Given the description of an element on the screen output the (x, y) to click on. 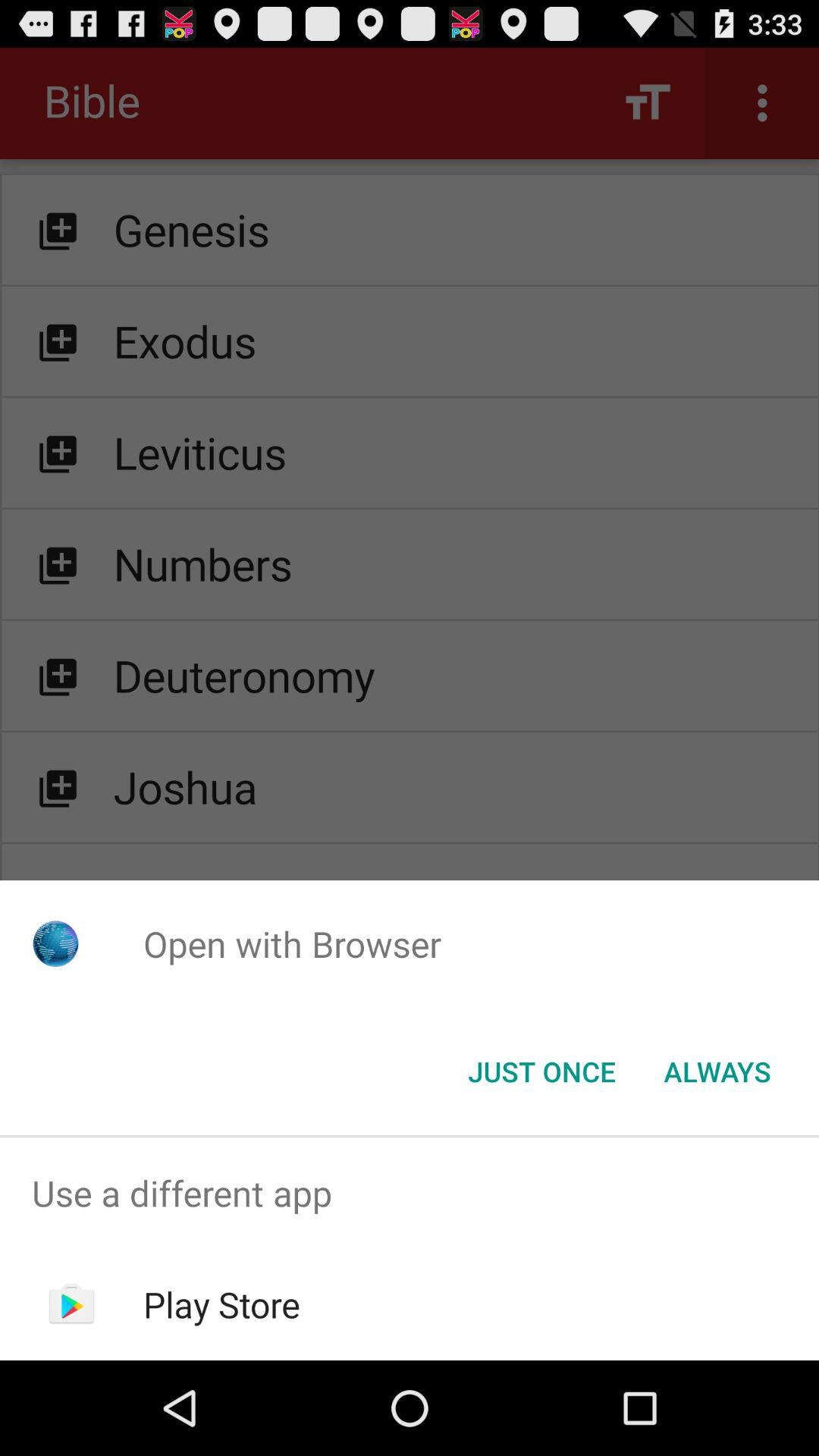
jump until the just once (541, 1071)
